Given the description of an element on the screen output the (x, y) to click on. 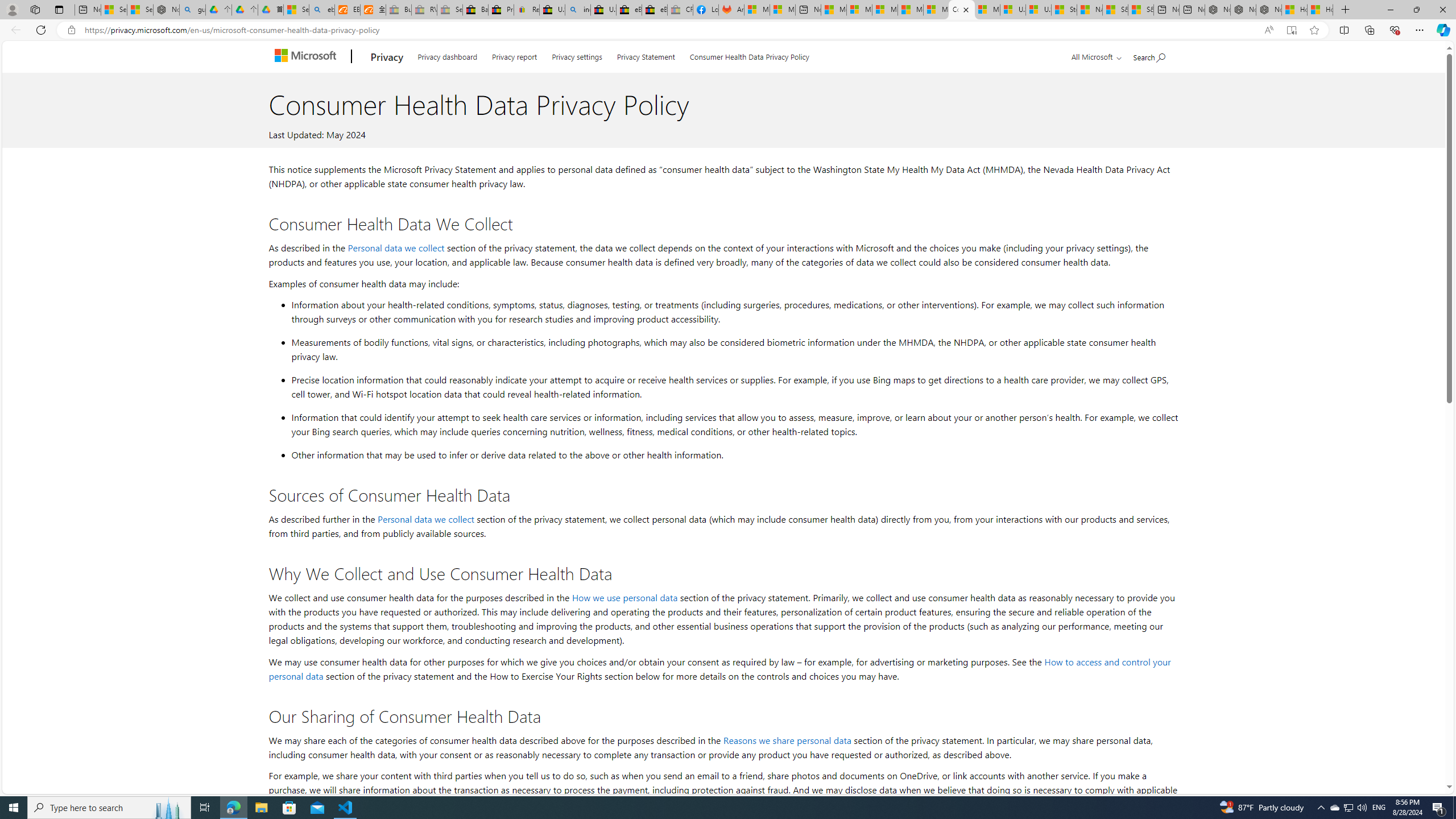
Privacy settings (577, 54)
Privacy report (514, 54)
Privacy Statement (645, 54)
including - Search (577, 9)
Log into Facebook (705, 9)
guge yunpan - Search (192, 9)
Microsoft account | Home (884, 9)
eBay Inc. Reports Third Quarter 2023 Results (654, 9)
How we use personal data (625, 597)
Privacy (386, 56)
